Given the description of an element on the screen output the (x, y) to click on. 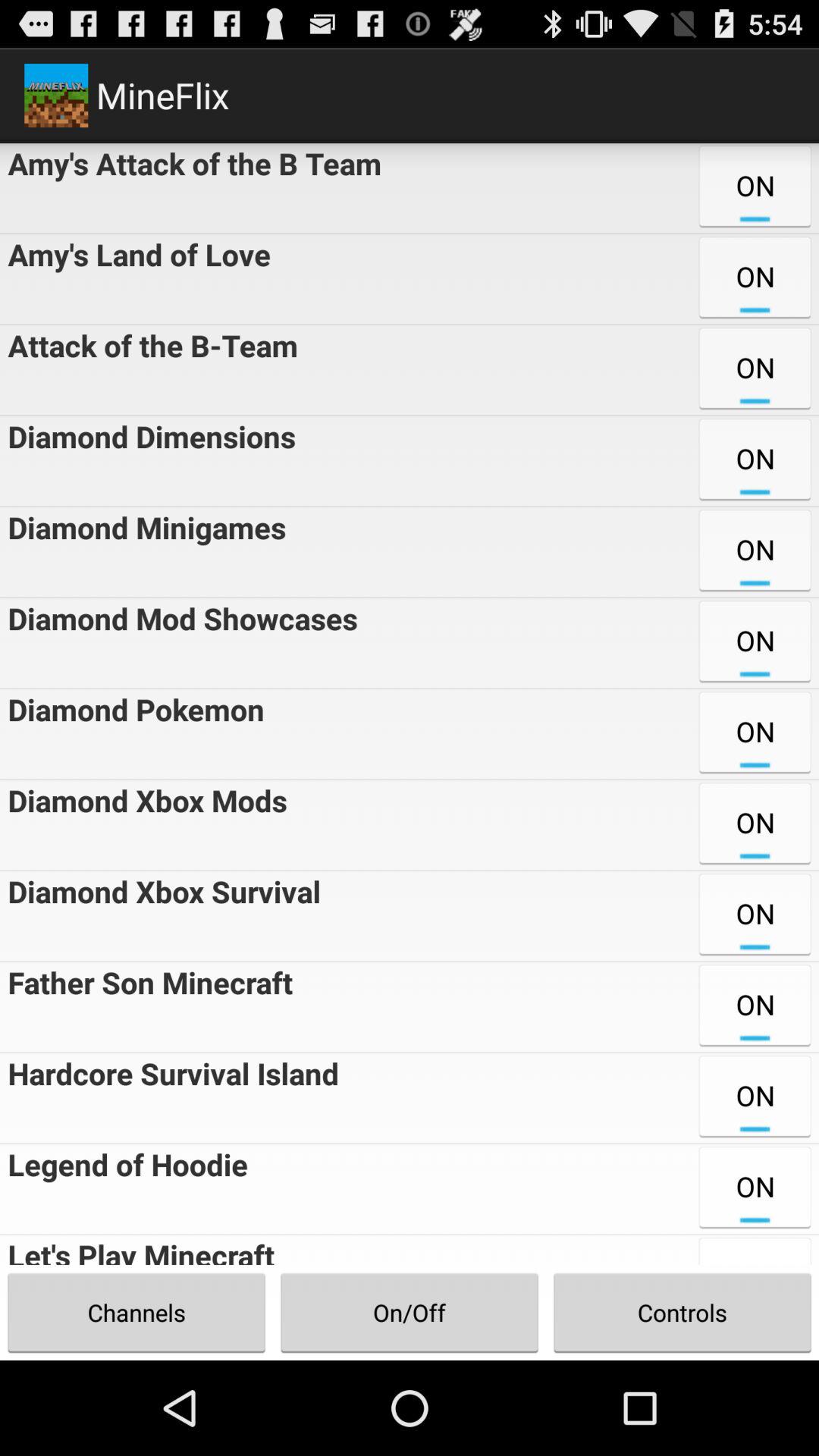
turn off the app above diamond minigames (147, 461)
